Given the description of an element on the screen output the (x, y) to click on. 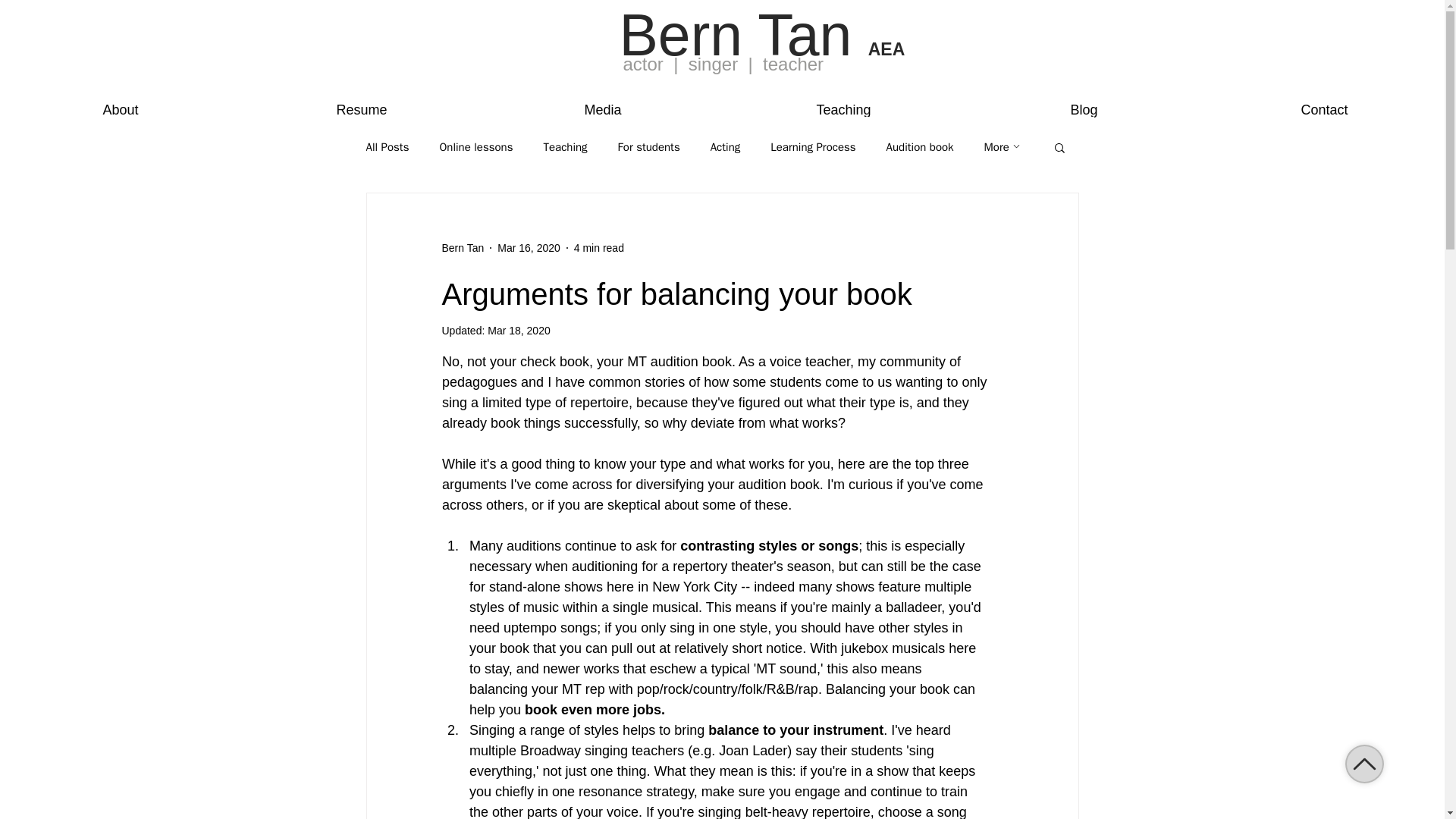
Blog (1083, 103)
Audition book (919, 146)
Teaching (564, 146)
Bern Tan (462, 247)
4 min read (598, 246)
Learning Process (813, 146)
Mar 16, 2020 (528, 246)
All Posts (387, 146)
Resume (361, 103)
About (120, 103)
